Given the description of an element on the screen output the (x, y) to click on. 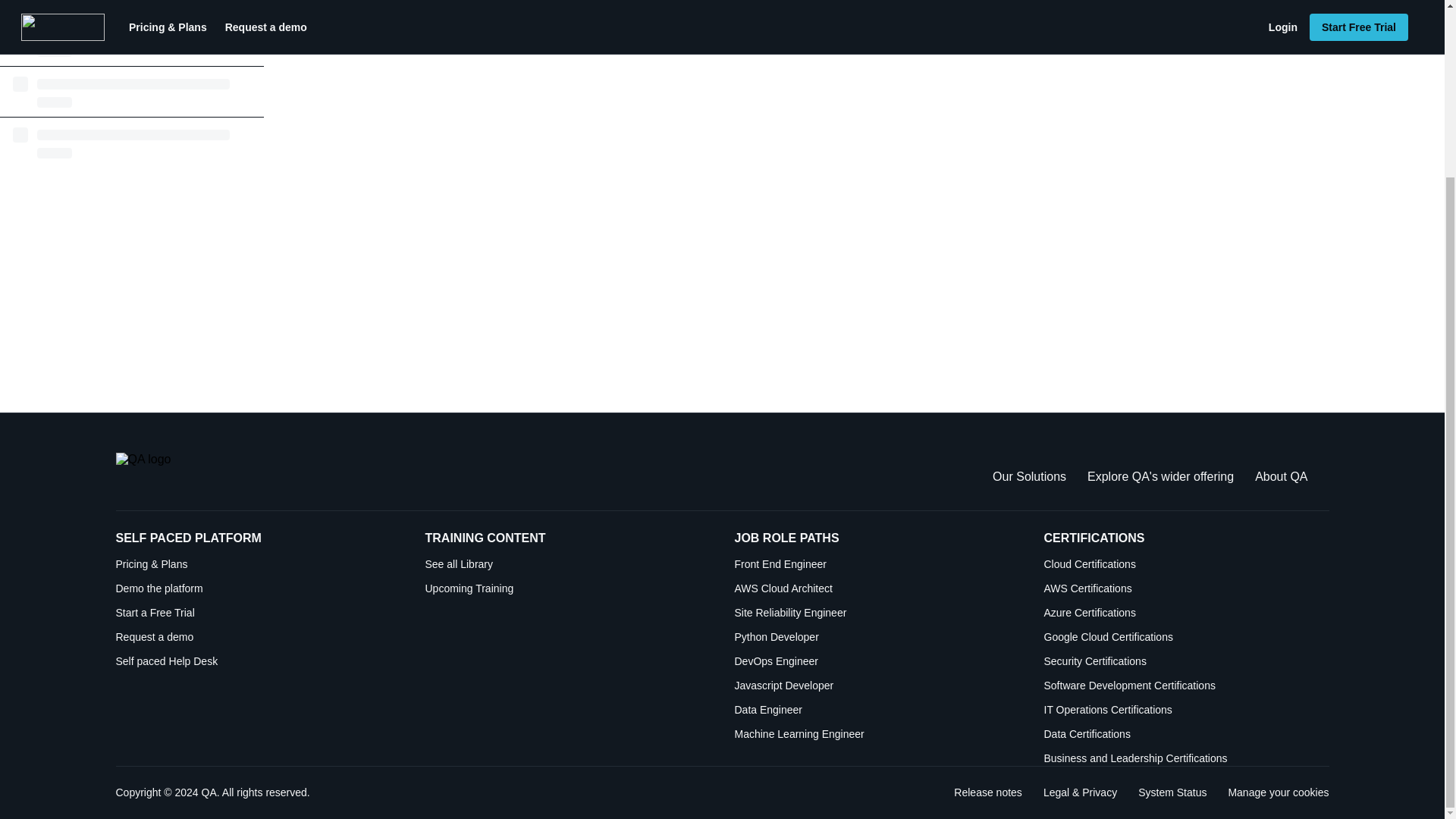
Software Development Certifications (1172, 792)
IT Operations Certifications (1185, 685)
Explore QA's wider offering (1185, 709)
Javascript Developer (1160, 476)
Request a demo (876, 685)
Upcoming Training (257, 636)
Google Cloud Certifications (567, 588)
Cloud Certifications (1185, 636)
Python Developer (1185, 563)
